Given the description of an element on the screen output the (x, y) to click on. 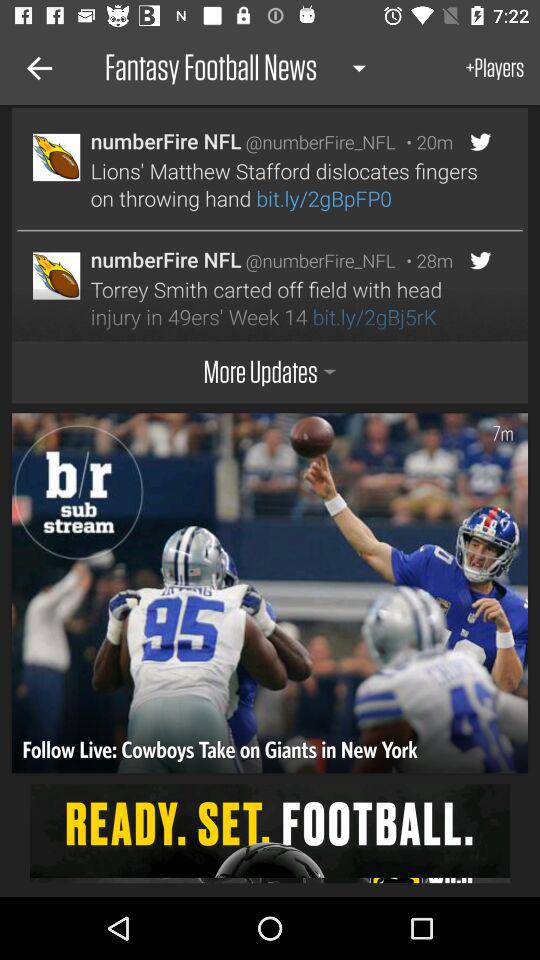
turn on the icon next to fantasy football news (36, 68)
